Given the description of an element on the screen output the (x, y) to click on. 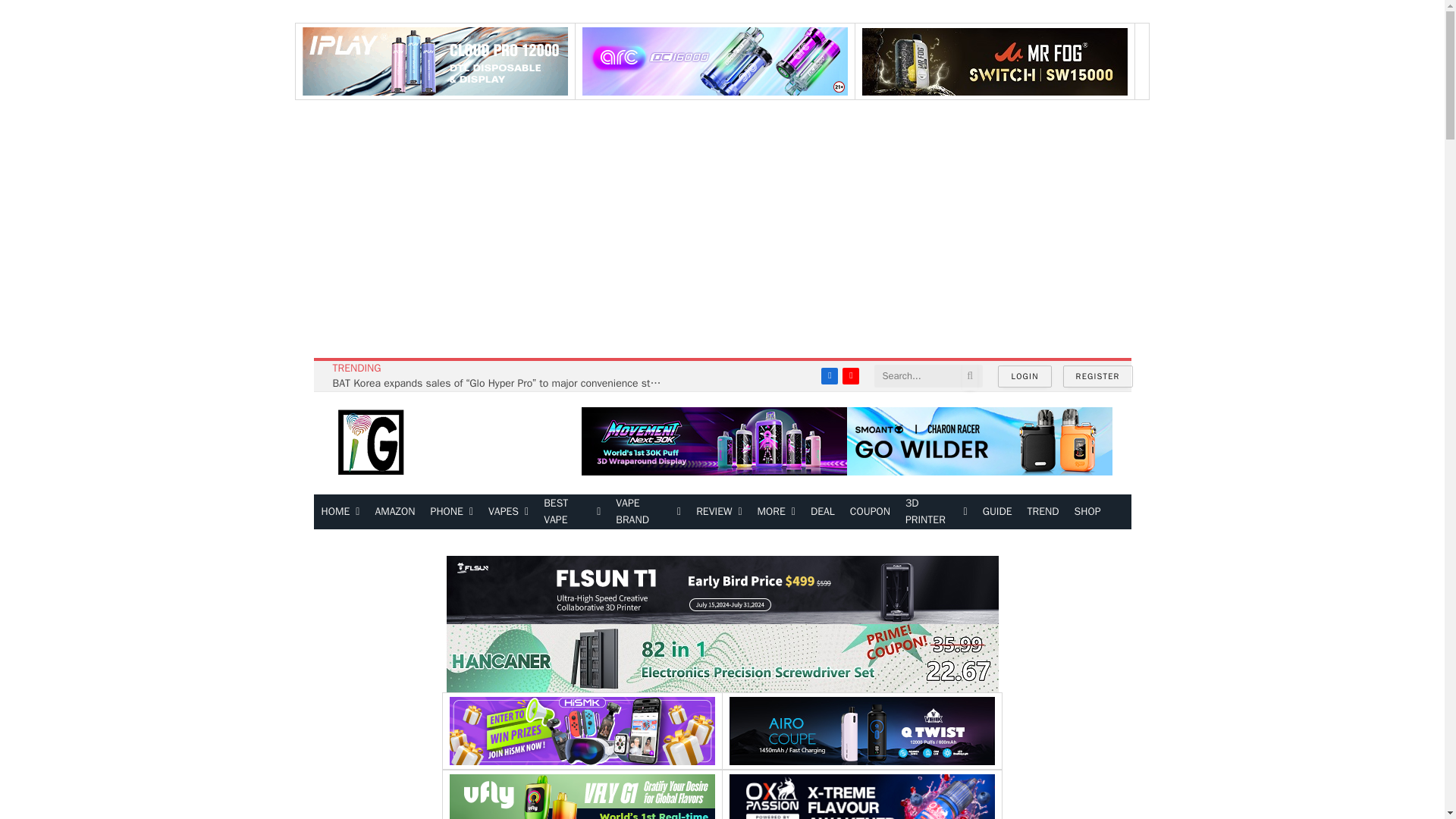
Facebook (829, 375)
YouTube (851, 375)
REGISTER (1097, 376)
AMAZON (394, 511)
LOGIN (1024, 376)
PHONE (451, 511)
HOME (341, 511)
